Given the description of an element on the screen output the (x, y) to click on. 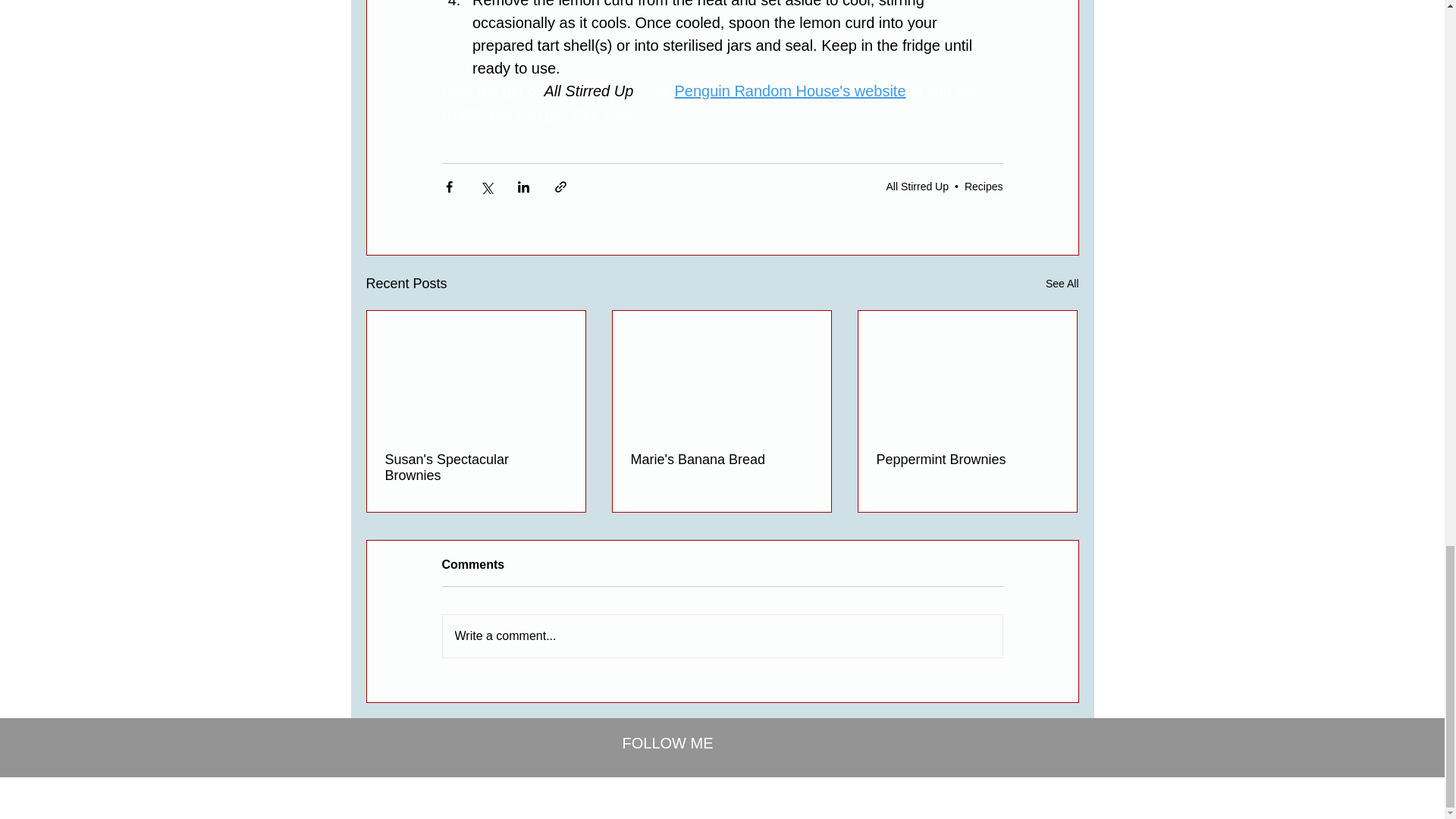
Recipes (983, 186)
Marie's Banana Bread (721, 459)
Peppermint Brownies (967, 459)
Penguin Random House's website (789, 90)
All Stirred Up (917, 186)
Write a comment... (722, 636)
See All (1061, 283)
Wix.com (817, 787)
Susan's Spectacular Brownies (476, 468)
